Given the description of an element on the screen output the (x, y) to click on. 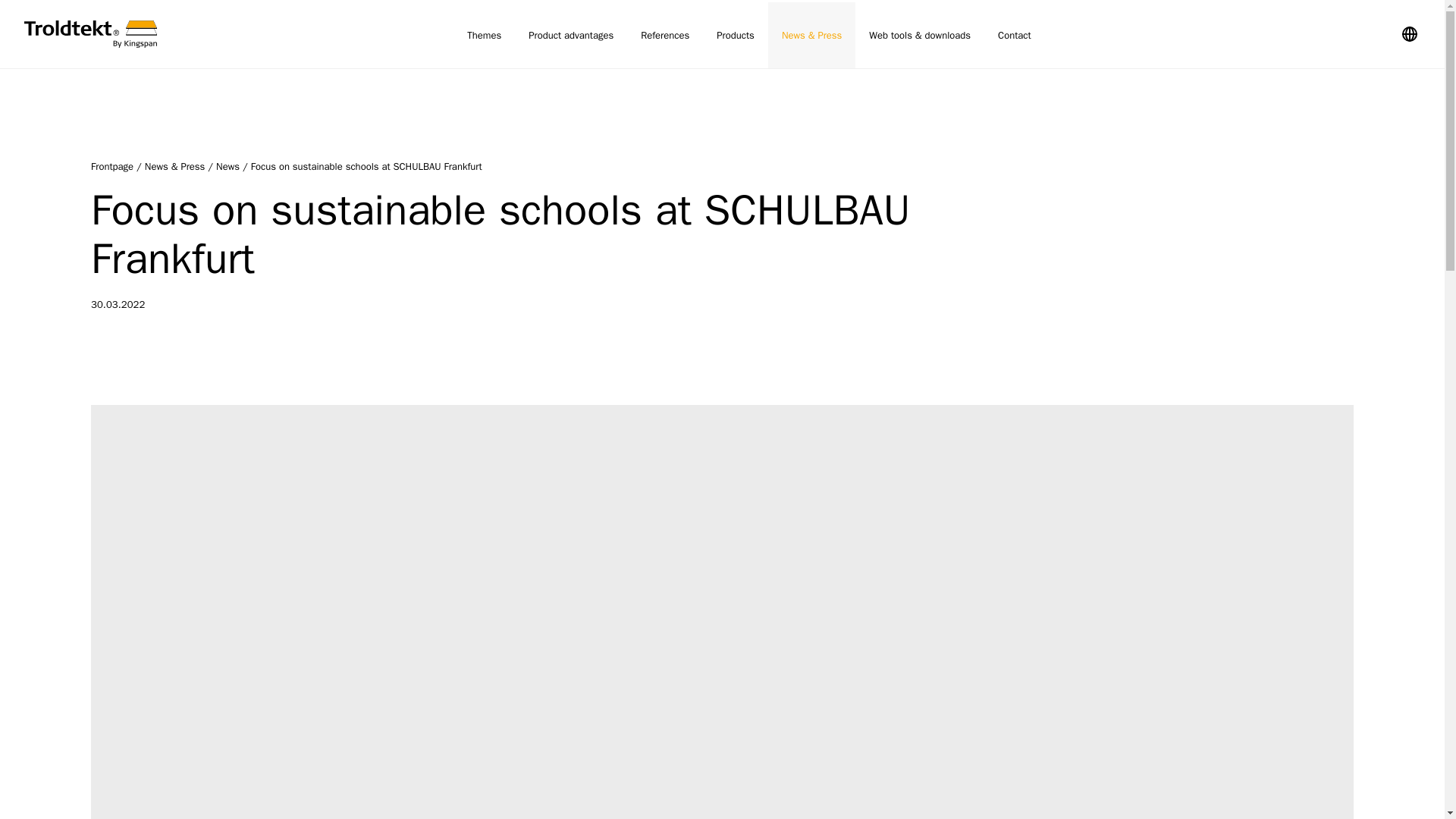
Product advantages (571, 34)
References (665, 34)
Frontpage (90, 33)
Themes (483, 34)
Products (735, 34)
